Given the description of an element on the screen output the (x, y) to click on. 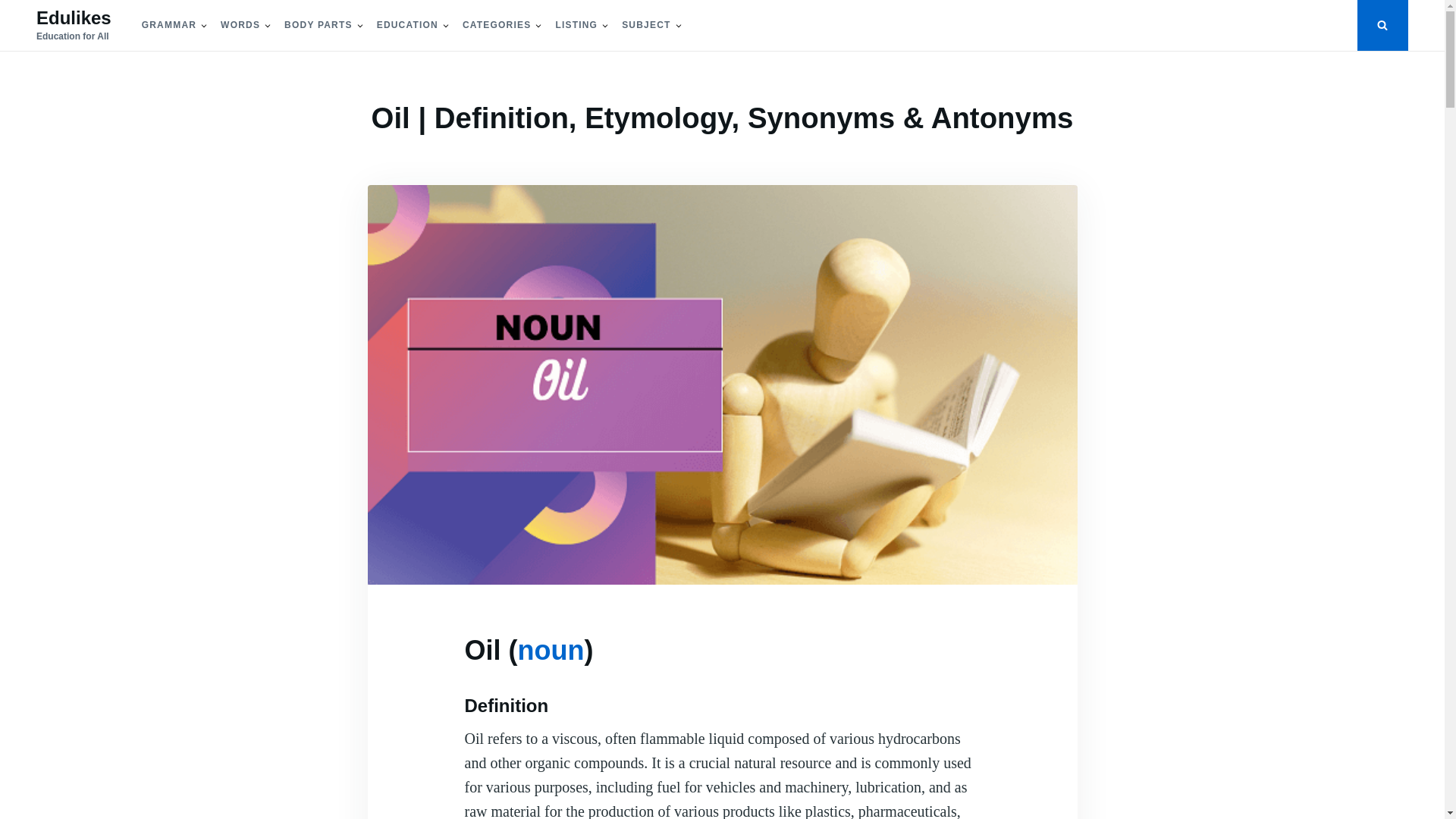
BODY PARTS (318, 25)
Edulikes (74, 17)
GRAMMAR (168, 25)
WORDS (240, 25)
